Given the description of an element on the screen output the (x, y) to click on. 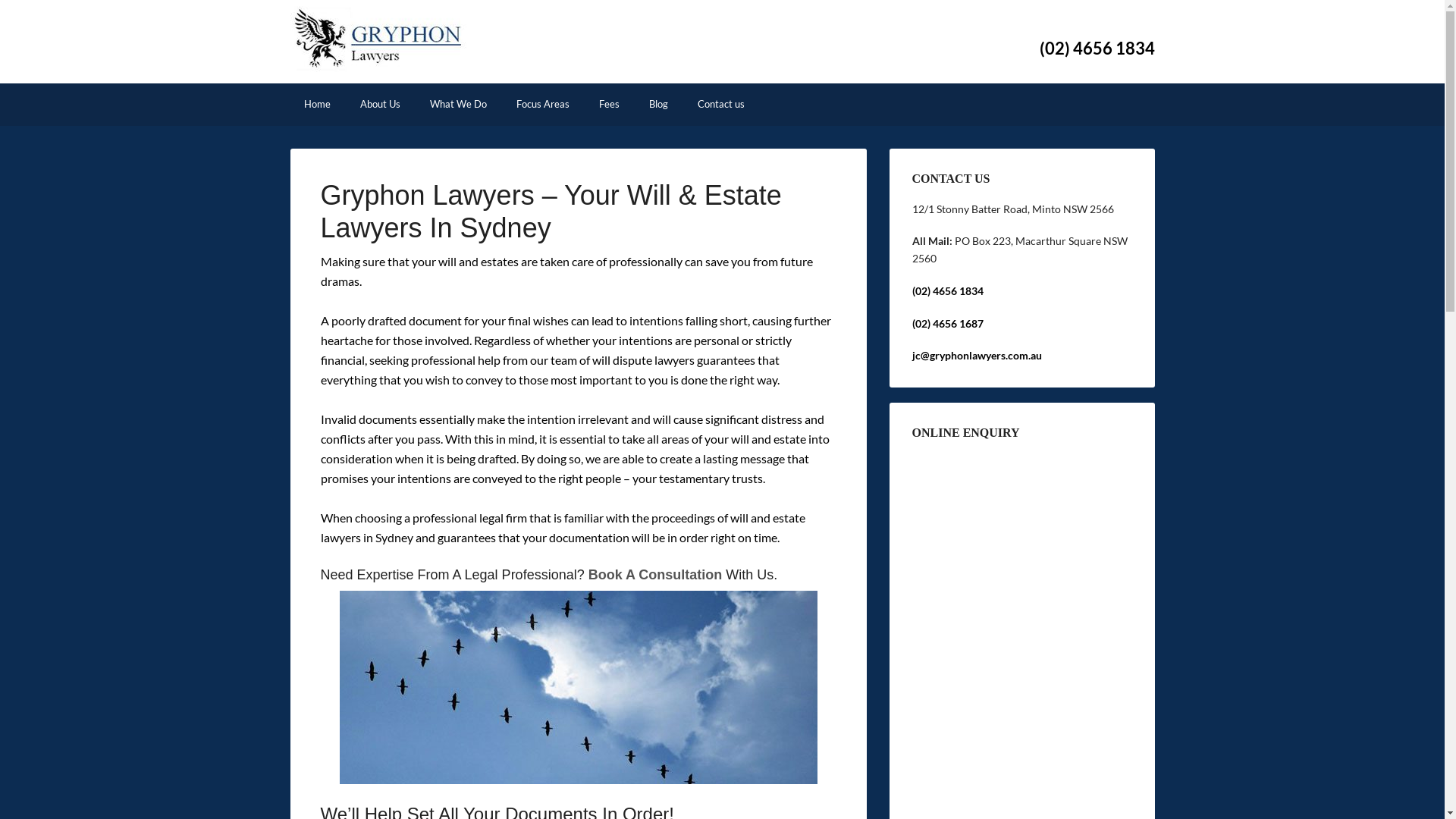
Home Element type: text (316, 104)
What We Do Element type: text (457, 104)
Focus Areas Element type: text (542, 104)
jc@gryphonlawyers.com.au Element type: text (976, 354)
(02) 4656 1687 Element type: text (946, 322)
Contact us Element type: text (721, 104)
(02) 4656 1834 Element type: text (1096, 47)
Blog Element type: text (658, 104)
Fees Element type: text (609, 104)
Book A Consultation Element type: text (655, 574)
Gryphon Lawyers Element type: hover (377, 59)
About Us Element type: text (379, 104)
(02) 4656 1834 Element type: text (946, 290)
